Given the description of an element on the screen output the (x, y) to click on. 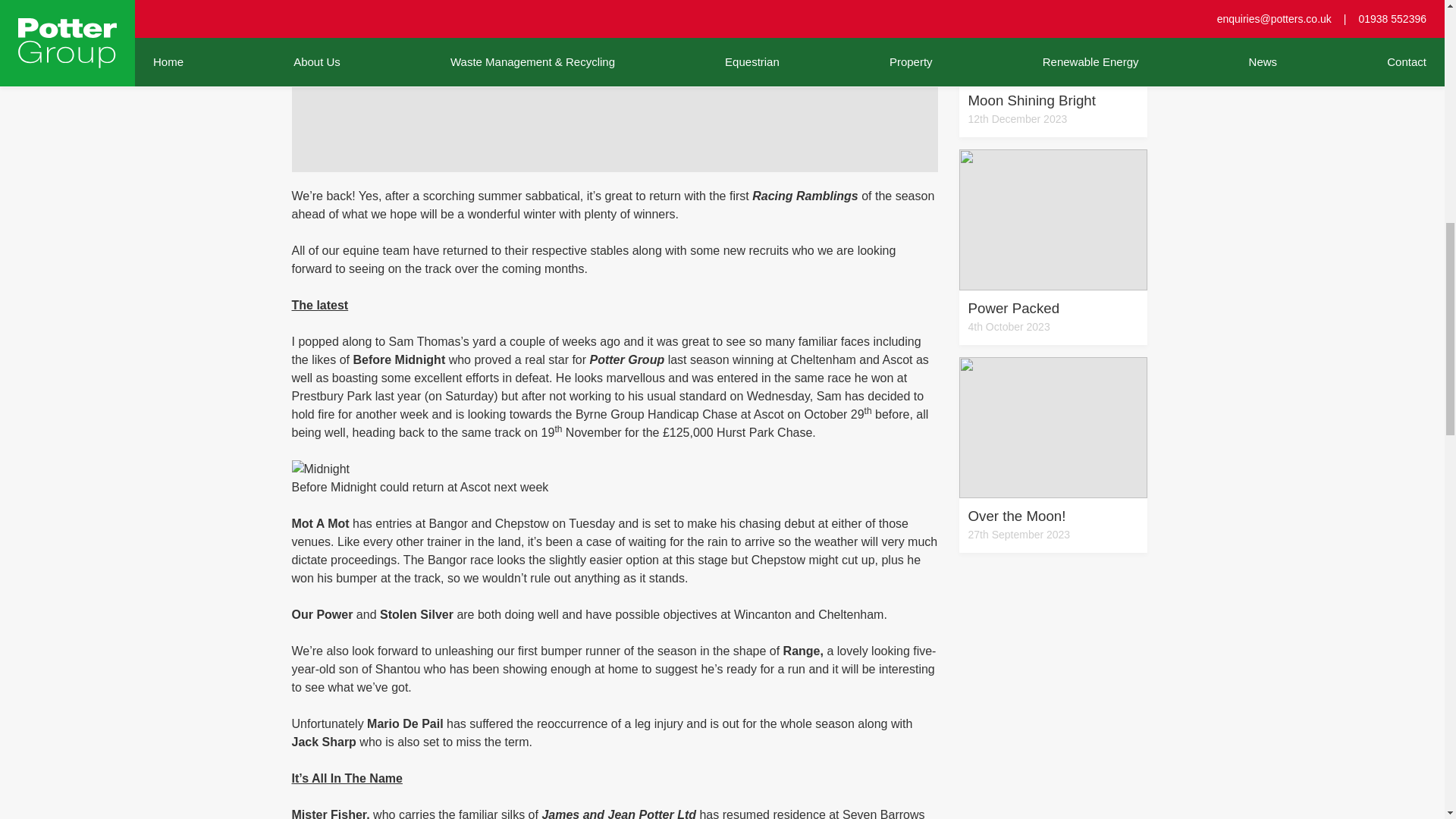
OK (1052, 454)
Click here (1405, 21)
